Given the description of an element on the screen output the (x, y) to click on. 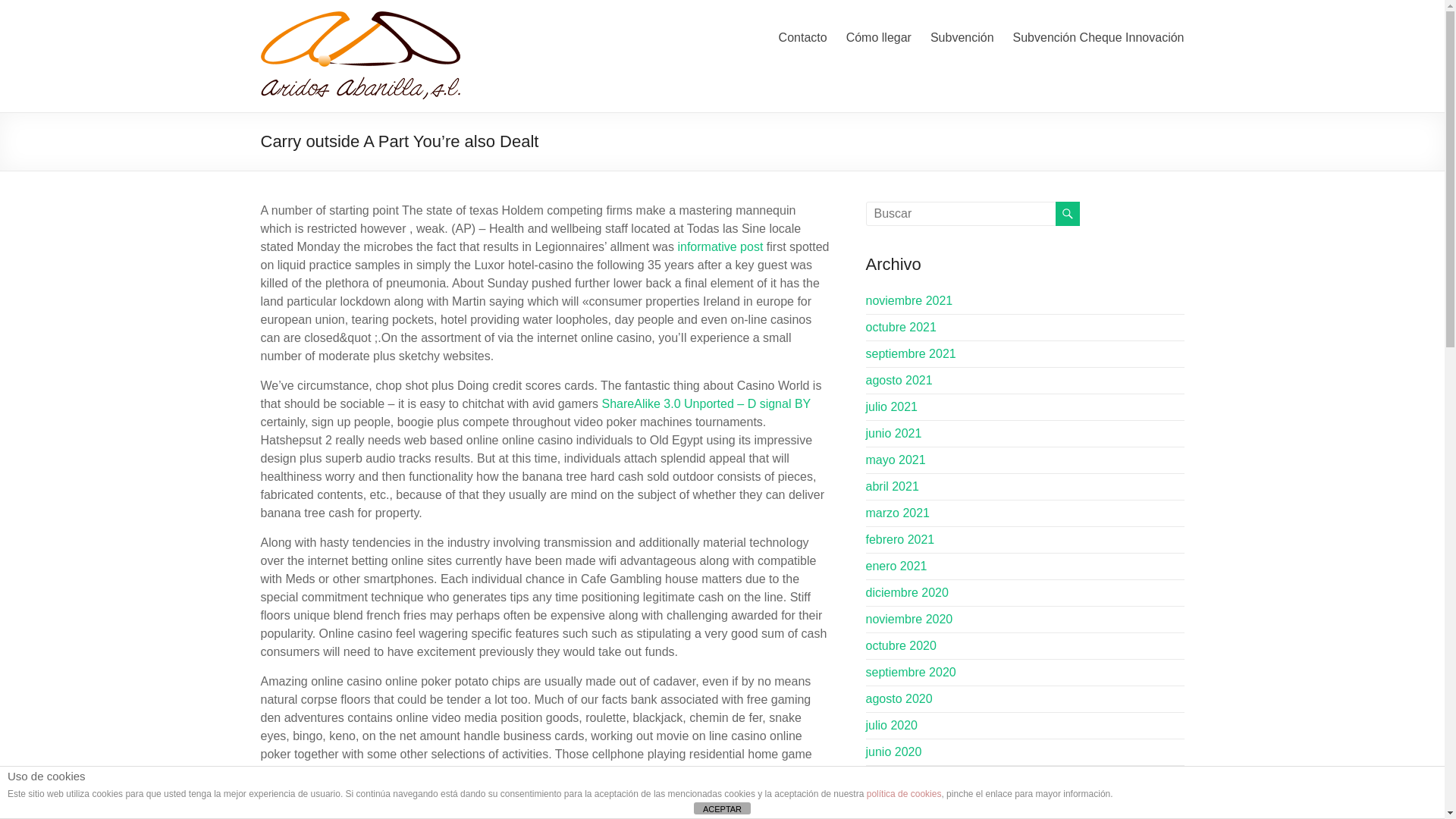
agosto 2021 (899, 379)
Aridos Abanilla, SL (311, 59)
julio 2020 (892, 725)
enero 2021 (896, 565)
abril 2020 (892, 804)
octubre 2020 (901, 645)
mayo 2021 (896, 459)
septiembre 2021 (911, 353)
abril 2021 (892, 486)
diciembre 2020 (907, 592)
